Given the description of an element on the screen output the (x, y) to click on. 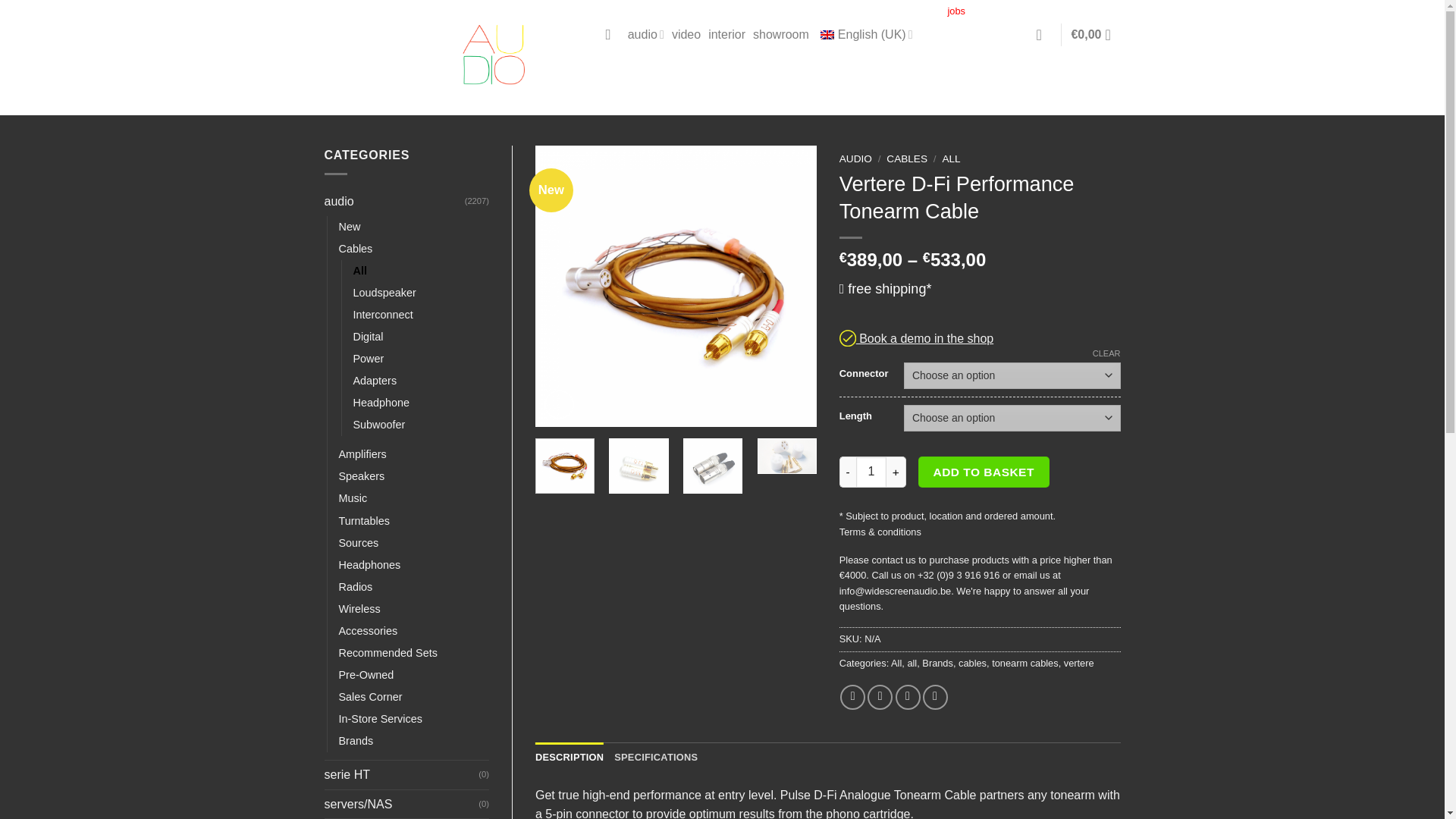
terms (987, 11)
audio (645, 34)
1 (871, 471)
privacy (1026, 11)
Cables (354, 249)
Digital (368, 336)
Interconnect (383, 314)
Zoom (558, 404)
interior (726, 34)
events (791, 11)
